Given the description of an element on the screen output the (x, y) to click on. 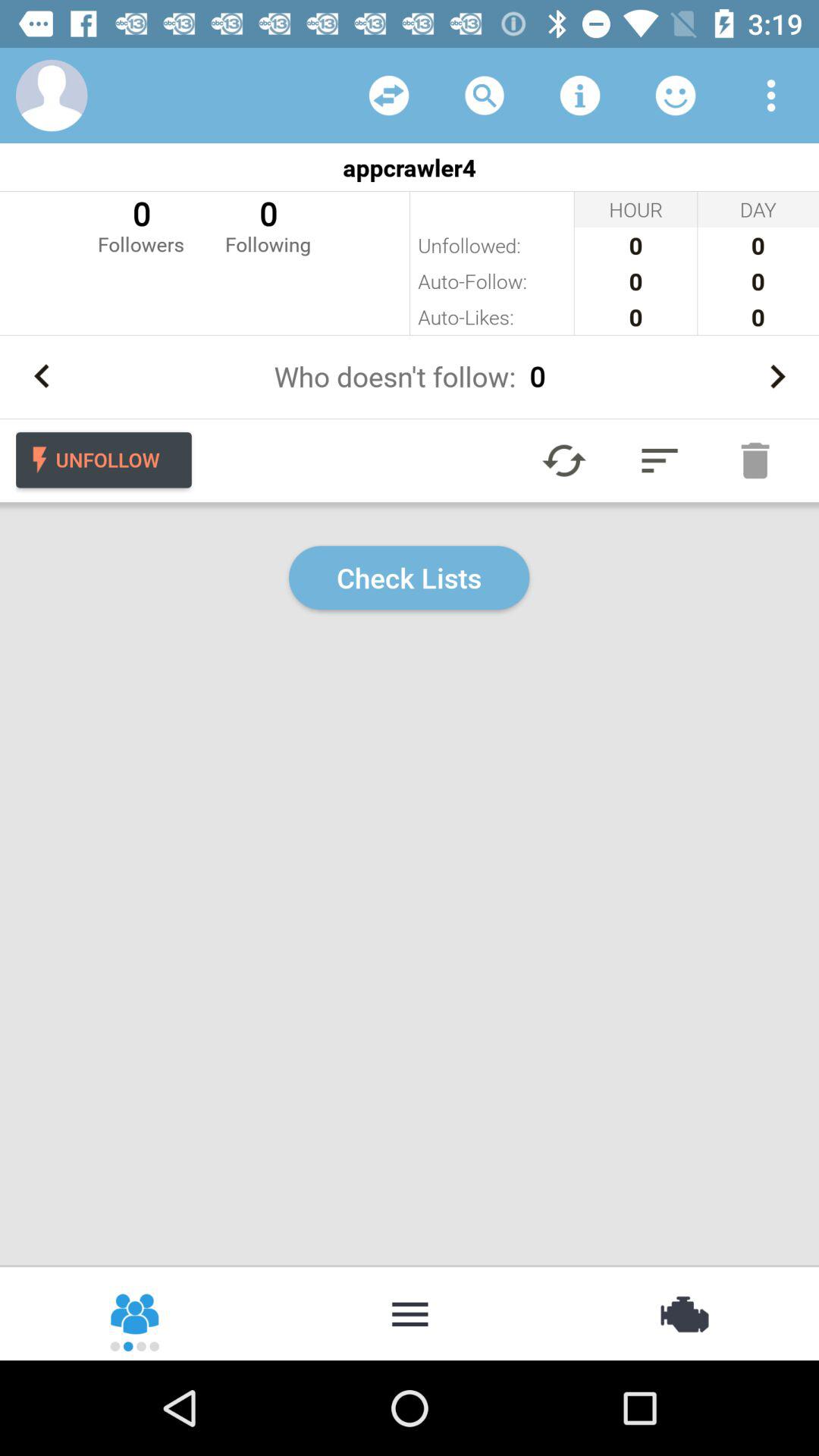
launch the icon to the left of the 0
following (140, 224)
